Given the description of an element on the screen output the (x, y) to click on. 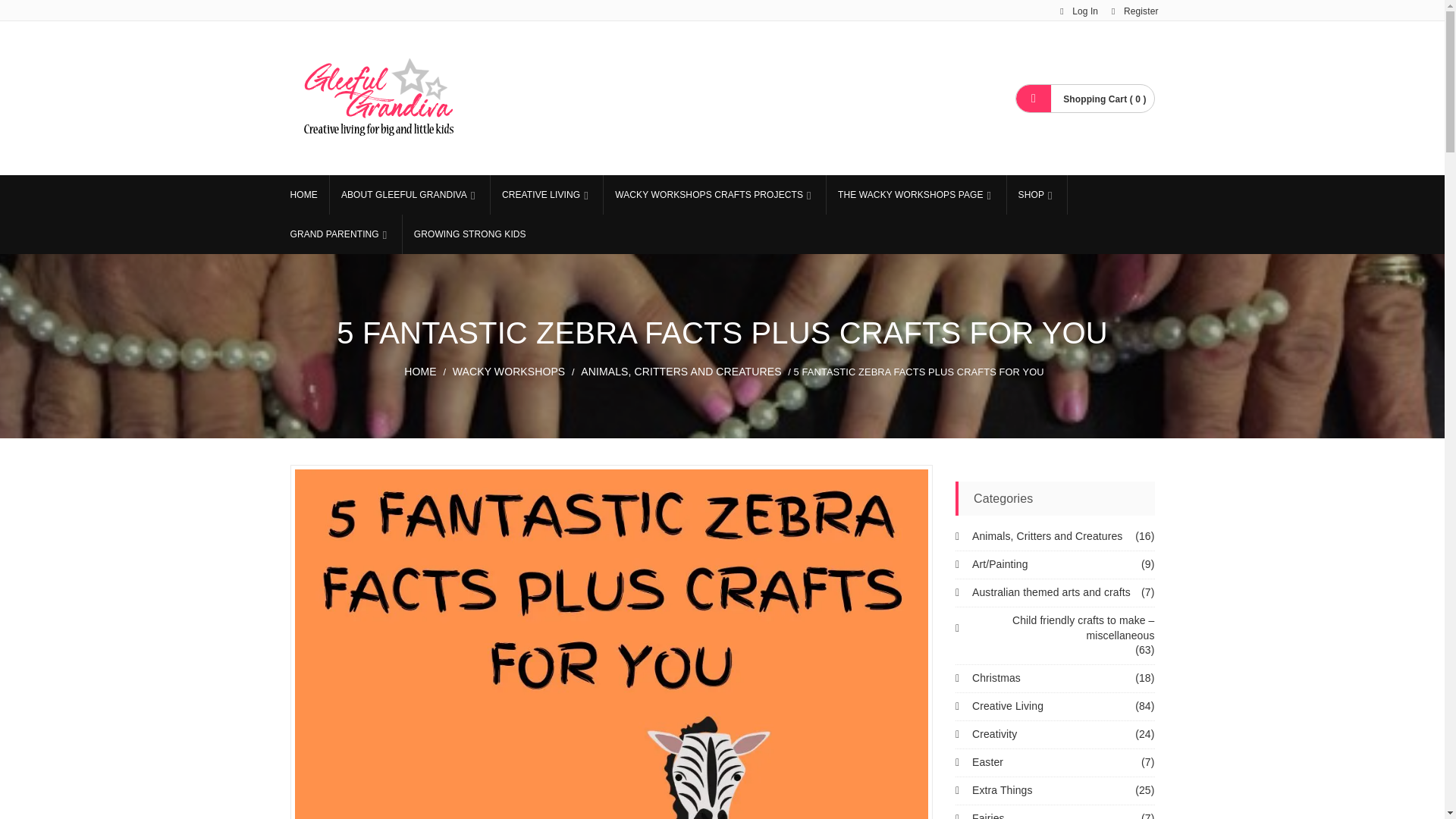
shopping cart (1084, 97)
